Given the description of an element on the screen output the (x, y) to click on. 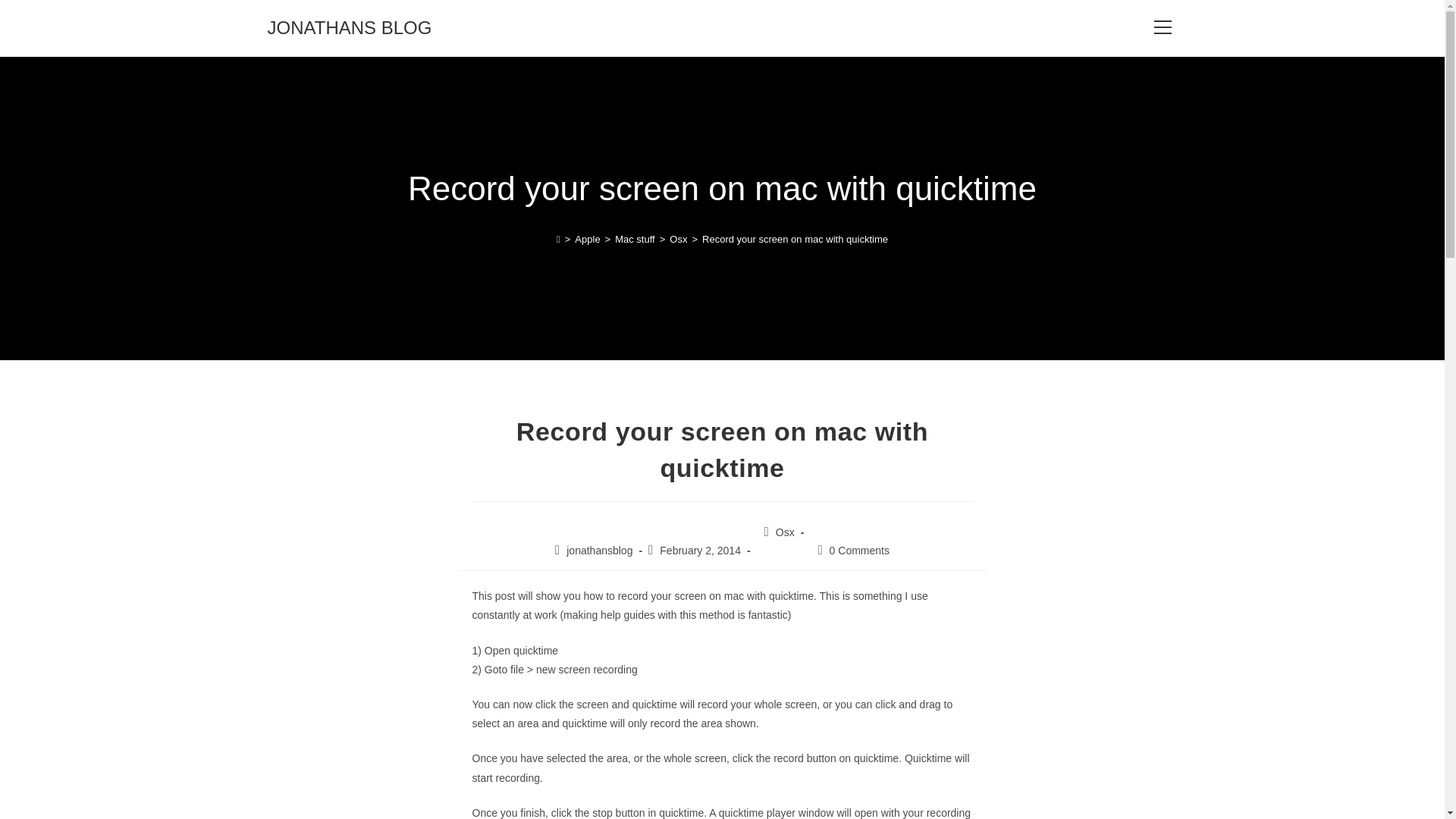
JONATHANS BLOG (348, 27)
View website Menu (1162, 27)
Posts by jonathansblog (598, 550)
